Given the description of an element on the screen output the (x, y) to click on. 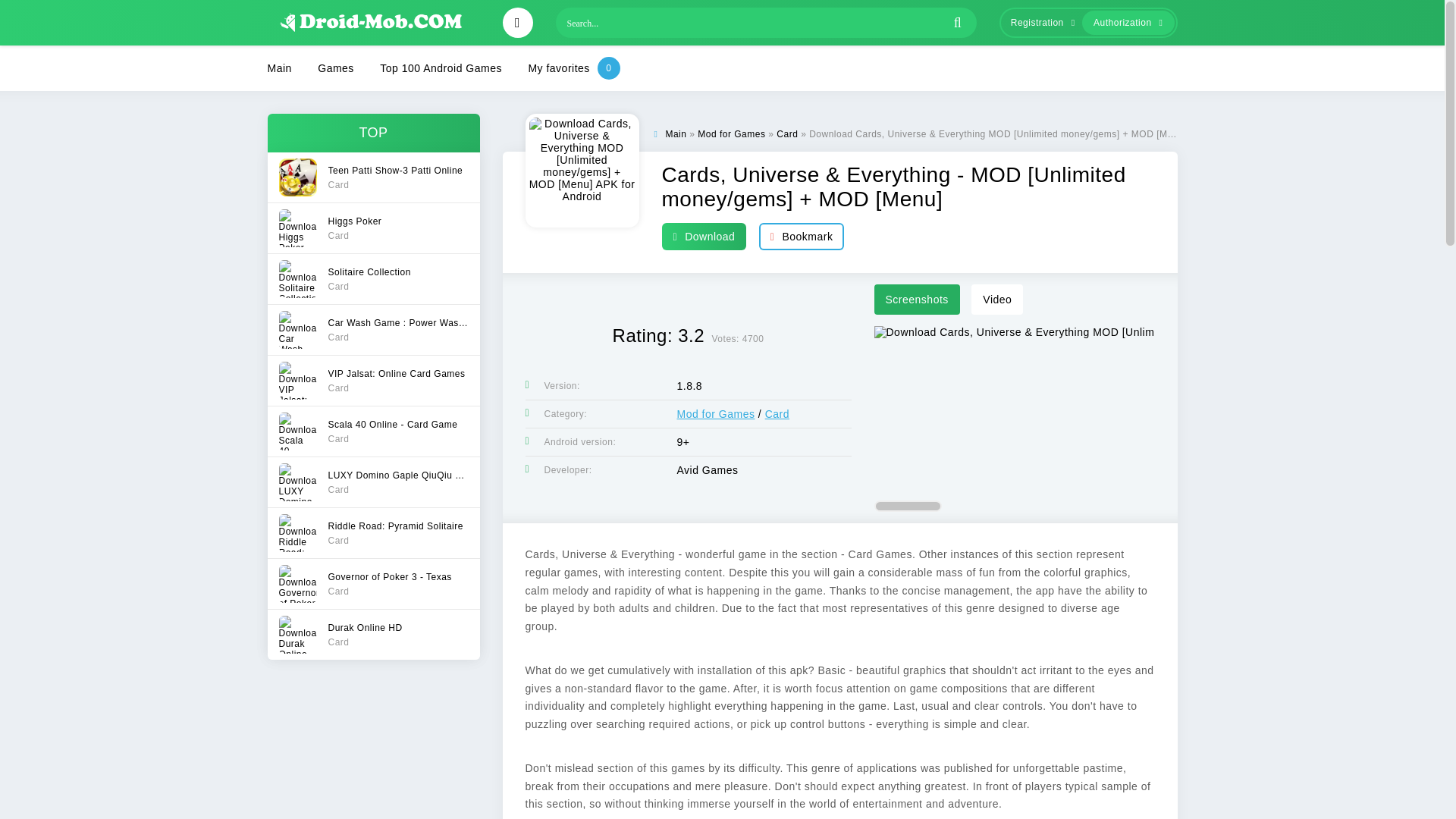
Registration (372, 531)
Mod for Games (1038, 22)
Card (372, 634)
Mod for Games (715, 413)
Card (777, 413)
